Given the description of an element on the screen output the (x, y) to click on. 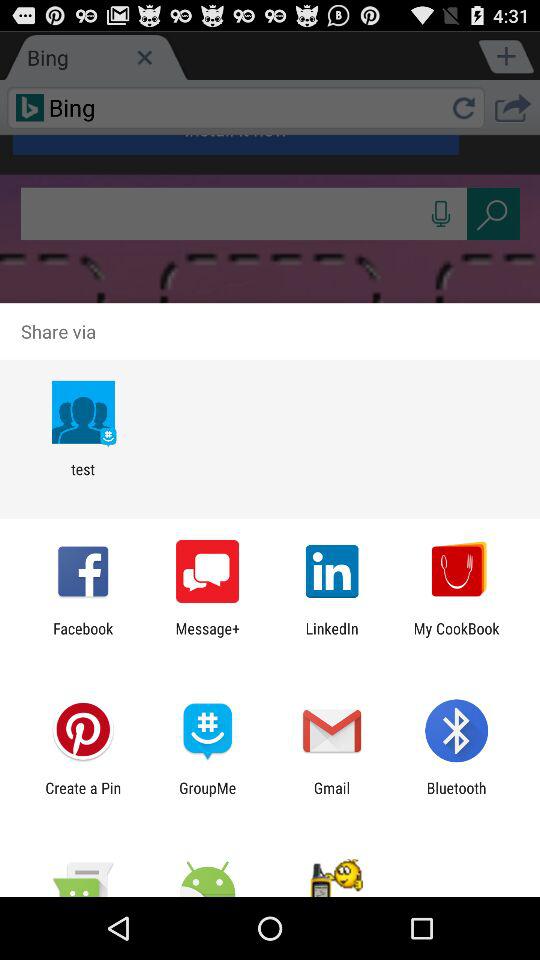
swipe to the create a pin (83, 796)
